Given the description of an element on the screen output the (x, y) to click on. 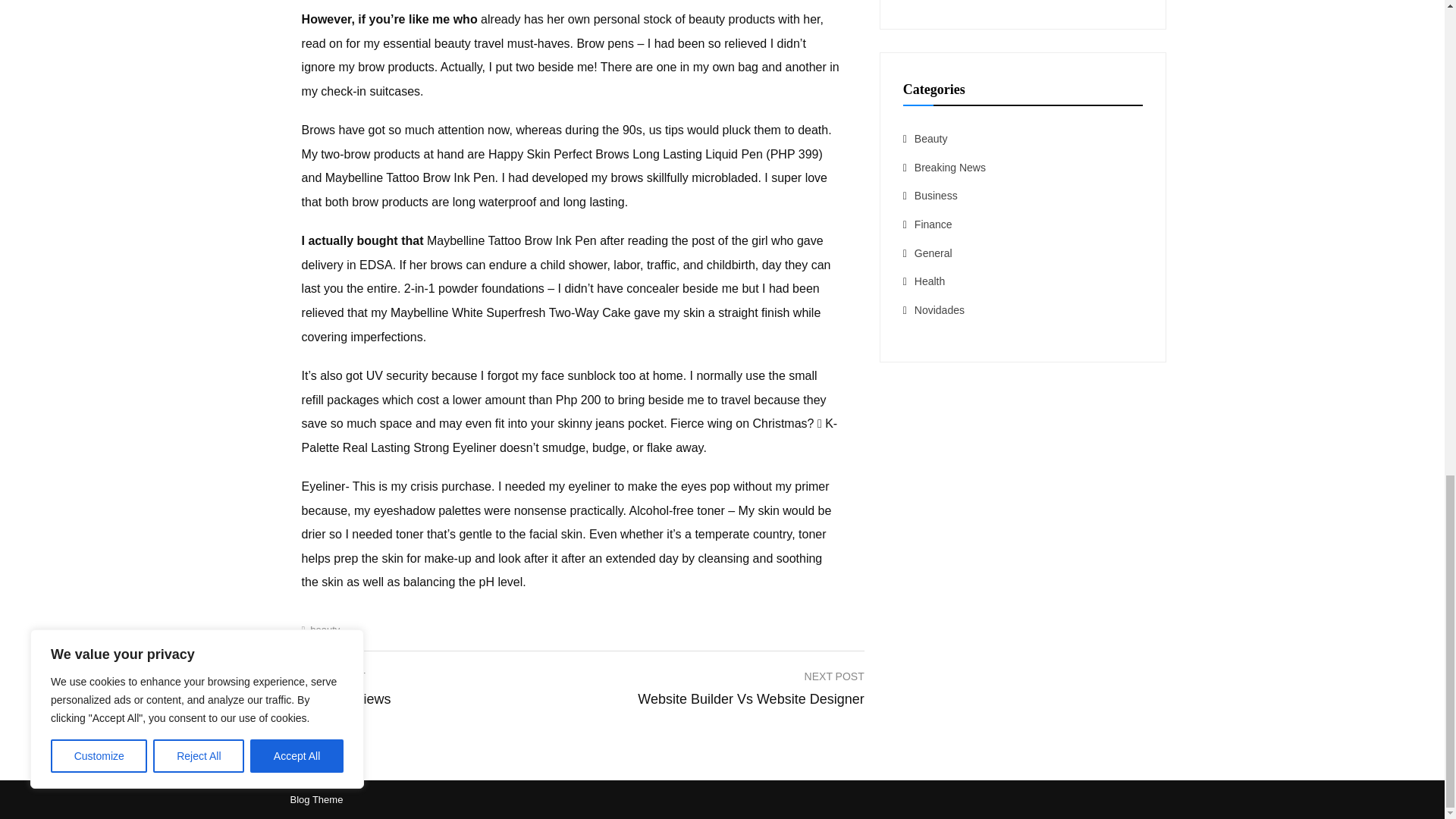
beauty (750, 685)
